Given the description of an element on the screen output the (x, y) to click on. 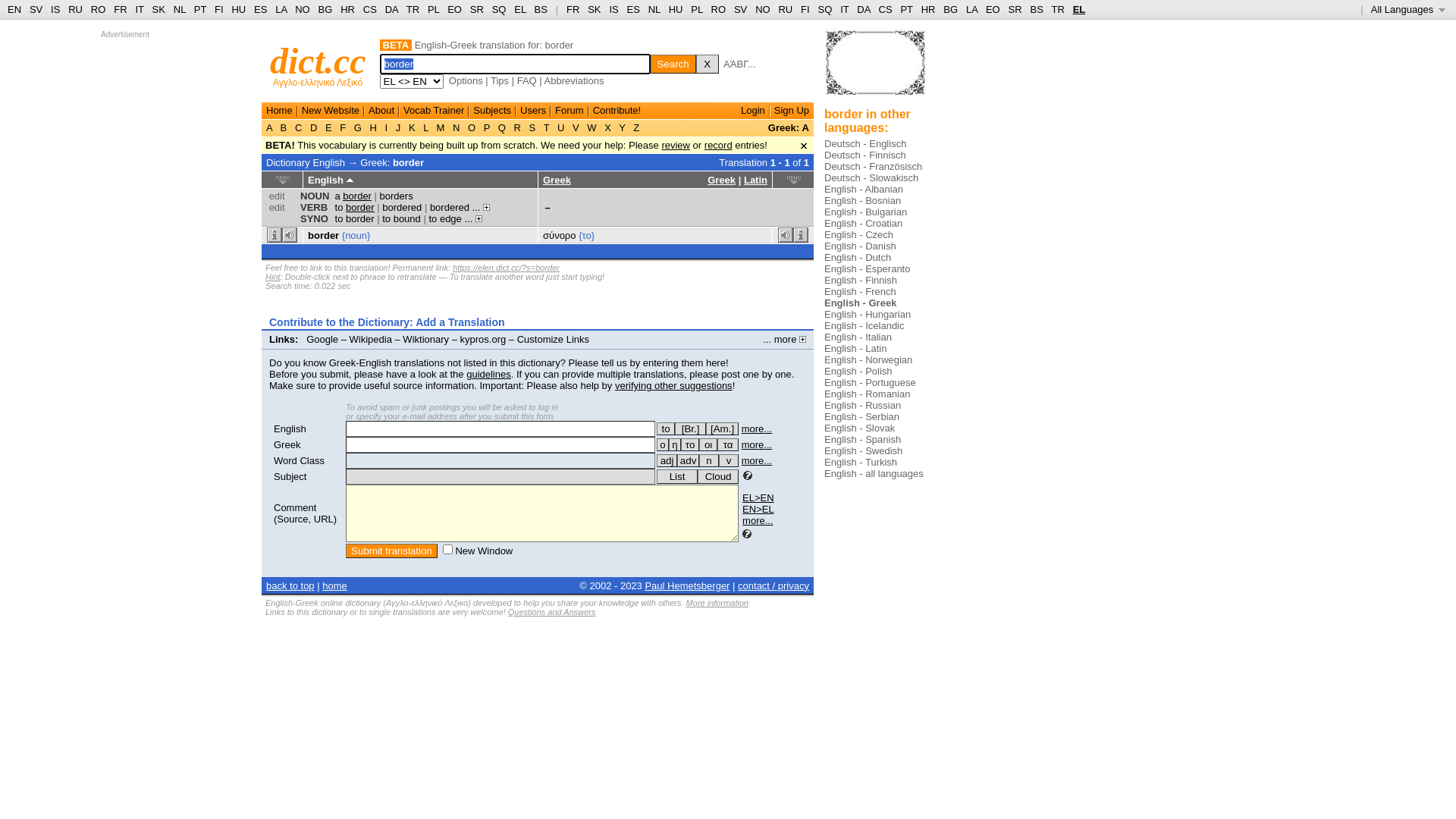
New Website Element type: text (330, 110)
English - Polish Element type: text (858, 370)
English - Serbian Element type: text (861, 416)
D Element type: text (313, 127)
more... Element type: text (756, 444)
K Element type: text (411, 127)
home Element type: text (334, 585)
FI Element type: text (218, 9)
borders Element type: text (396, 195)
IS Element type: text (613, 9)
English - Romanian Element type: text (867, 393)
BG Element type: text (325, 9)
to edge Element type: text (444, 218)
IT Element type: text (138, 9)
English - Turkish Element type: text (860, 461)
border Element type: text (407, 161)
CS Element type: text (884, 9)
G Element type: text (357, 127)
HU Element type: text (675, 9)
A Element type: text (270, 127)
DA Element type: text (391, 9)
English - Bulgarian Element type: text (865, 211)
Customize Links Element type: text (553, 339)
ES Element type: text (260, 9)
English - Croatian Element type: text (863, 223)
EN>EL Element type: text (758, 508)
edit Element type: text (277, 195)
SR Element type: text (476, 9)
Z Element type: text (636, 127)
(esp.) British English Element type: hover (690, 428)
SV Element type: text (740, 9)
Deutsch - Englisch Element type: text (865, 143)
HR Element type: text (928, 9)
L Element type: text (425, 127)
FAQ Element type: text (526, 80)
English - Esperanto Element type: text (867, 268)
FI Element type: text (804, 9)
EL Element type: text (1079, 9)
dict.cc Element type: text (317, 60)
BS Element type: text (1035, 9)
Deutsch - Finnisch Element type: text (865, 154)
HU Element type: text (238, 9)
to border Element type: text (354, 207)
TR Element type: text (412, 9)
verifying other suggestions Element type: text (673, 385)
RU Element type: text (785, 9)
to border Element type: text (354, 218)
Vocab Trainer Element type: text (433, 110)
BS Element type: text (540, 9)
English - Czech Element type: text (858, 234)
Greek Element type: text (286, 444)
NO Element type: text (302, 9)
bordered Element type: text (449, 207)
Deutsch - Slowakisch Element type: text (871, 177)
I Element type: text (386, 127)
English - Latin Element type: text (855, 348)
SK Element type: text (593, 9)
SQ Element type: text (499, 9)
PL Element type: text (433, 9)
Google Element type: text (322, 339)
NL Element type: text (654, 9)
List Element type: text (676, 476)
W Element type: text (591, 127)
Contribute to the Dictionary: Add a Translation Element type: text (387, 322)
SV Element type: text (35, 9)
...  Element type: text (472, 218)
Wikipedia Element type: text (370, 339)
PT Element type: text (200, 9)
EO Element type: text (454, 9)
adj Element type: text (666, 460)
ES Element type: text (633, 9)
Y Element type: text (621, 127)
U Element type: text (560, 127)
RO Element type: text (98, 9)
F Element type: text (342, 127)
Greek Element type: text (556, 179)
PT Element type: text (906, 9)
Q Element type: text (501, 127)
Submit translation Element type: text (391, 550)
review Element type: text (675, 144)
LA Element type: text (280, 9)
Forum Element type: text (569, 110)
Home Element type: text (279, 110)
Greek Element type: text (721, 179)
SQ Element type: text (824, 9)
adv Element type: text (688, 460)
English - Finnish Element type: text (860, 279)
S Element type: text (532, 127)
NO Element type: text (762, 9)
X Element type: text (608, 127)
M Element type: text (440, 127)
English - Dutch Element type: text (857, 257)
IT Element type: text (844, 9)
for verbs Element type: hover (665, 428)
vector damask flourish border Element type: hover (875, 68)
English - Bosnian Element type: text (862, 200)
More information Element type: text (717, 602)
HR Element type: text (347, 9)
Tips Element type: text (499, 80)
Hint Element type: text (272, 276)
R Element type: text (517, 127)
record Element type: text (718, 144)
IS Element type: text (54, 9)
Dictionary Element type: text (288, 161)
Options Element type: text (465, 80)
to bound Element type: text (401, 218)
N Element type: text (455, 127)
X Element type: text (707, 63)
V Element type: text (575, 127)
P Element type: text (486, 127)
contact / privacy Element type: text (773, 585)
BG Element type: text (950, 9)
Contribute! Element type: text (617, 110)
Questions and Answers Element type: text (552, 611)
Abbreviations Element type: text (574, 80)
kypros.org Element type: text (483, 339)
English - Danish Element type: text (860, 245)
J Element type: text (397, 127)
Paul Hemetsberger Element type: text (686, 585)
English - Hungarian Element type: text (867, 314)
...  Element type: text (480, 207)
[Am.] Element type: text (722, 428)
All Languages  Element type: text (1408, 9)
Login Element type: text (752, 110)
English - Italian Element type: text (857, 336)
EL Element type: text (519, 9)
Sign Up Element type: text (791, 110)
EN Element type: text (14, 9)
RO Element type: text (718, 9)
v Element type: text (728, 460)
a border Element type: text (353, 195)
English - Norwegian Element type: text (868, 359)
English - Albanian Element type: text (863, 188)
... more Element type: text (784, 339)
SR Element type: text (1015, 9)
EO Element type: text (992, 9)
border Element type: text (322, 234)
SK Element type: text (158, 9)
T Element type: text (546, 127)
English - all languages Element type: text (873, 473)
Search Element type: text (673, 63)
B Element type: text (283, 127)
C Element type: text (297, 127)
guidelines Element type: text (488, 373)
English - Slovak Element type: text (859, 427)
English - Spanish Element type: text (862, 439)
more... Element type: text (757, 520)
Subjects Element type: text (492, 110)
[Br.] Element type: text (690, 428)
English Element type: text (289, 428)
Cloud Element type: text (717, 476)
PL Element type: text (696, 9)
DA Element type: text (862, 9)
English - Portuguese Element type: text (870, 382)
RU Element type: text (75, 9)
https://elen.dict.cc/?s=border Element type: text (505, 267)
E Element type: text (328, 127)
back to top Element type: text (290, 585)
edit Element type: text (277, 207)
bordered Element type: text (401, 207)
NL Element type: text (179, 9)
English - Greek Element type: text (860, 302)
EL>EN Element type: text (758, 497)
n Element type: text (708, 460)
FR Element type: text (119, 9)
to Element type: text (665, 428)
English - Icelandic Element type: text (864, 325)
English - French Element type: text (860, 291)
FR Element type: text (572, 9)
(esp.) American English Element type: hover (722, 428)
English - Russian Element type: text (862, 405)
Latin Element type: text (755, 179)
more... Element type: text (756, 428)
About Element type: text (381, 110)
O Element type: text (470, 127)
CS Element type: text (369, 9)
H Element type: text (373, 127)
English - Swedish Element type: text (863, 450)
TR Element type: text (1057, 9)
Wiktionary Element type: text (425, 339)
Users Element type: text (533, 110)
LA Element type: text (971, 9)
more... Element type: text (756, 460)
